Given the description of an element on the screen output the (x, y) to click on. 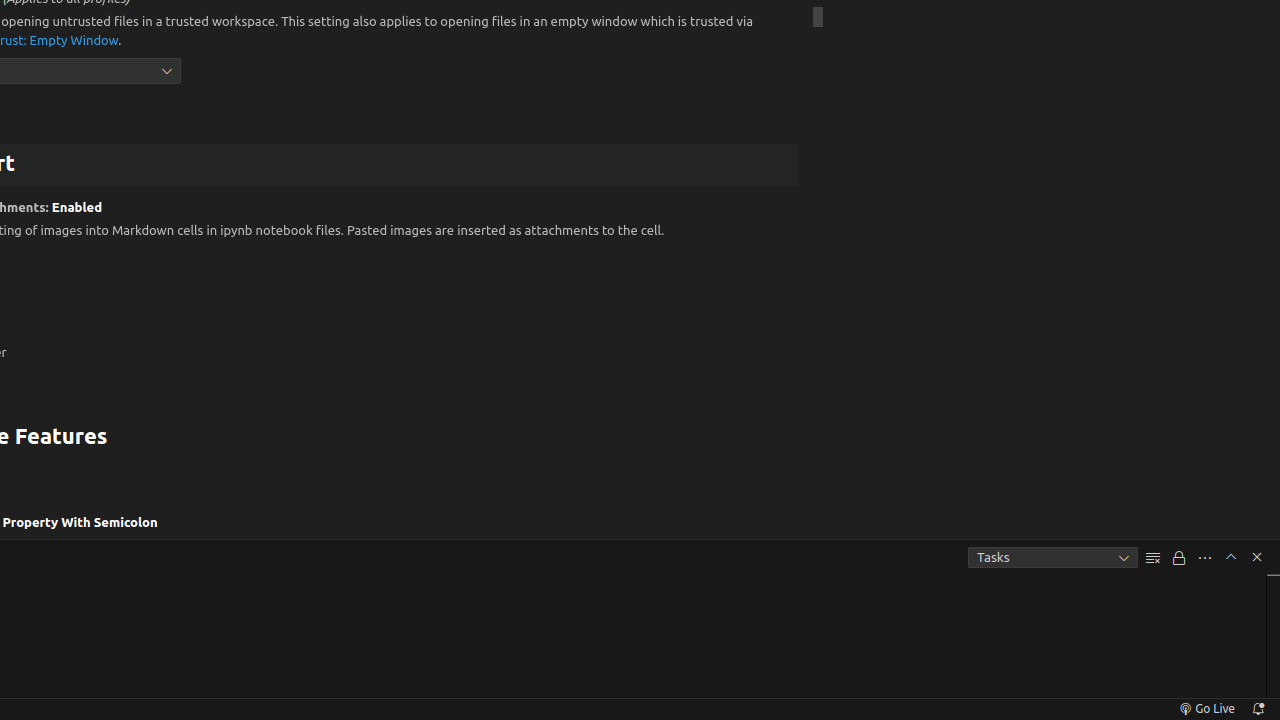
Hide Panel Element type: push-button (1257, 557)
Turn Auto Scrolling Off Element type: check-box (1179, 557)
Notifications Element type: push-button (1258, 709)
